Given the description of an element on the screen output the (x, y) to click on. 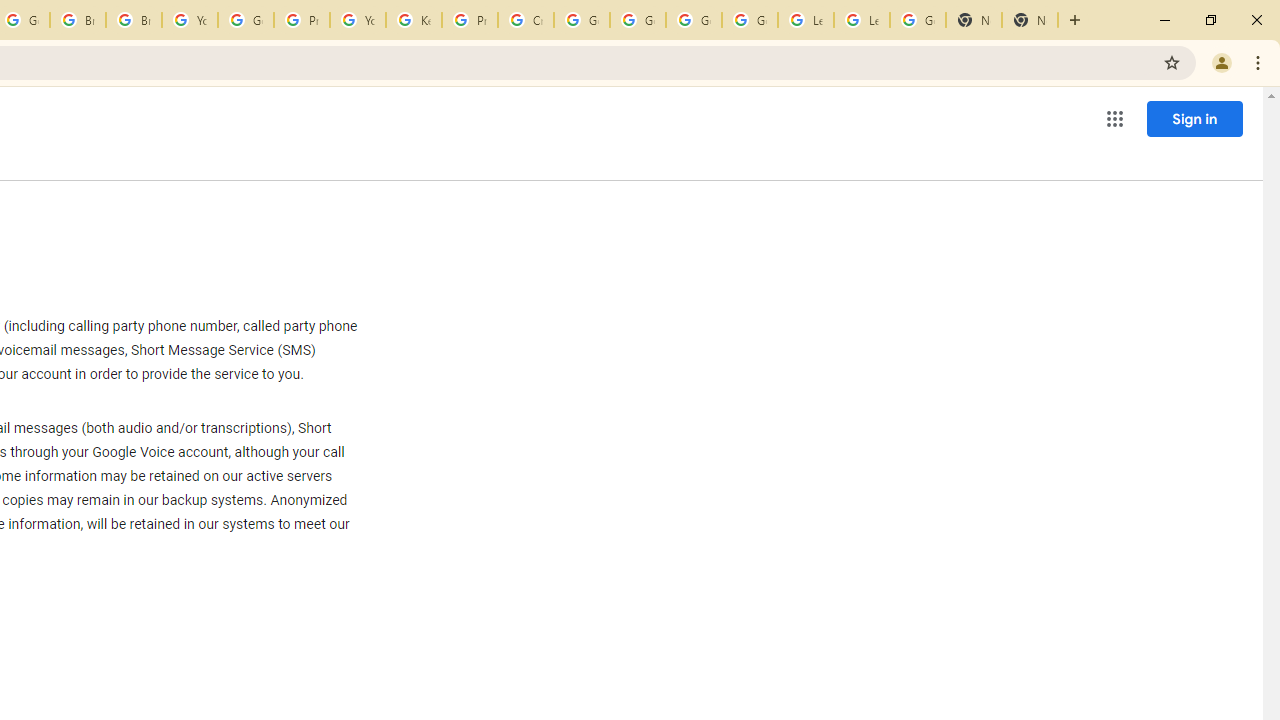
YouTube (358, 20)
Google Account (917, 20)
Google Account Help (582, 20)
Google Account Help (637, 20)
Create your Google Account (525, 20)
